Given the description of an element on the screen output the (x, y) to click on. 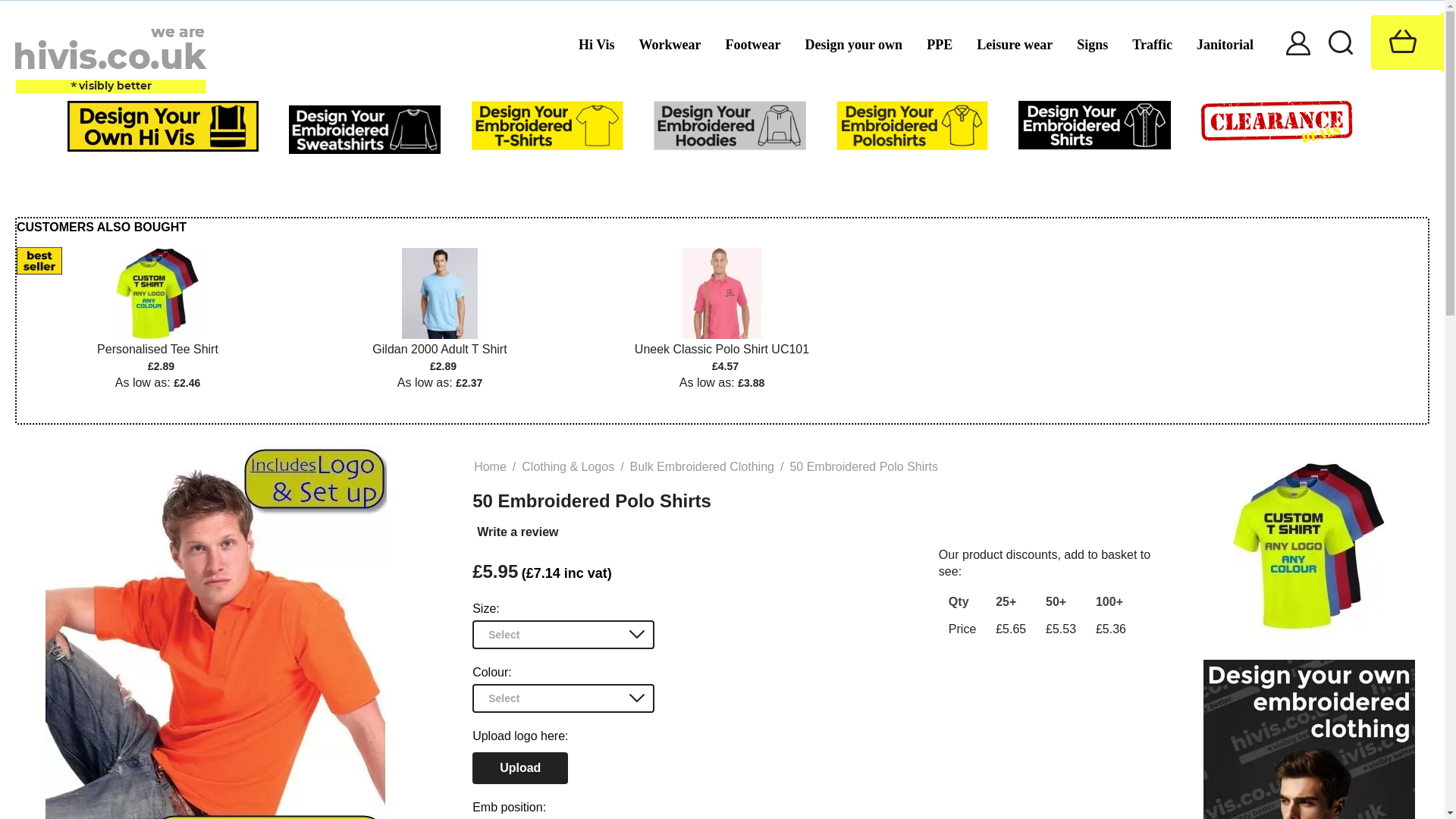
50 Embroidered Polo Shirts (216, 631)
Uneek Classic Polo Shirt UC101 (722, 293)
Custom Embroidered Hoodies (729, 124)
Custom printed hi vis vest (157, 293)
Custom Embroidered Shirts (1093, 123)
Gildan 2000 Adult T Shirt (440, 347)
Custom Embroidered Sweatshirts (364, 128)
Uneek Classic Polo Shirt UC101 (721, 347)
Personalised Tee Shirt (157, 347)
